Given the description of an element on the screen output the (x, y) to click on. 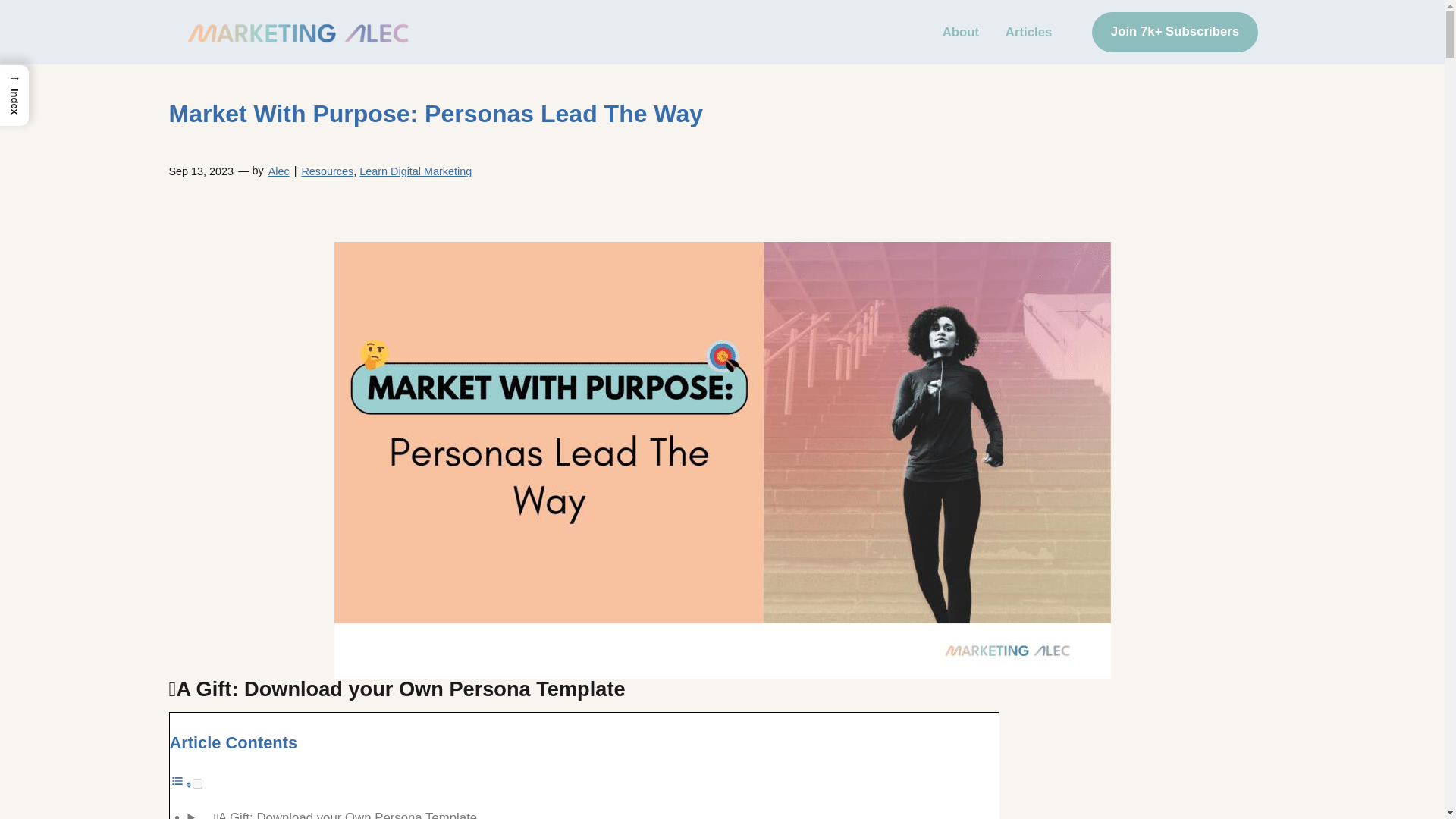
Learn Digital Marketing (415, 171)
Resources (327, 171)
on (197, 783)
About (960, 32)
Market With Purpose: Personas Lead The Way (434, 114)
Alec (278, 171)
Articles (1029, 32)
